Given the description of an element on the screen output the (x, y) to click on. 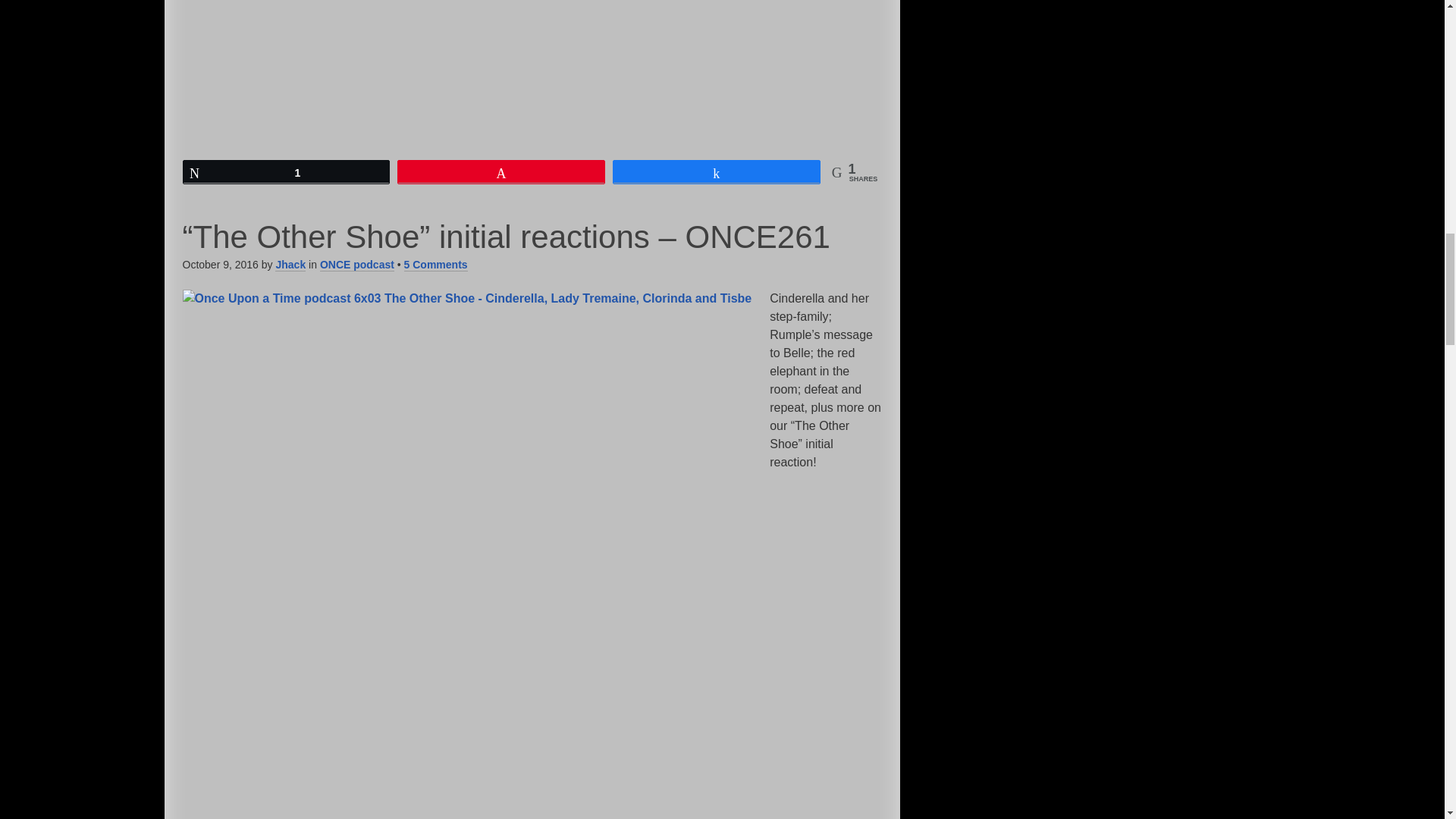
ONCE podcast (357, 264)
Jhack (290, 264)
1 (286, 171)
